Given the description of an element on the screen output the (x, y) to click on. 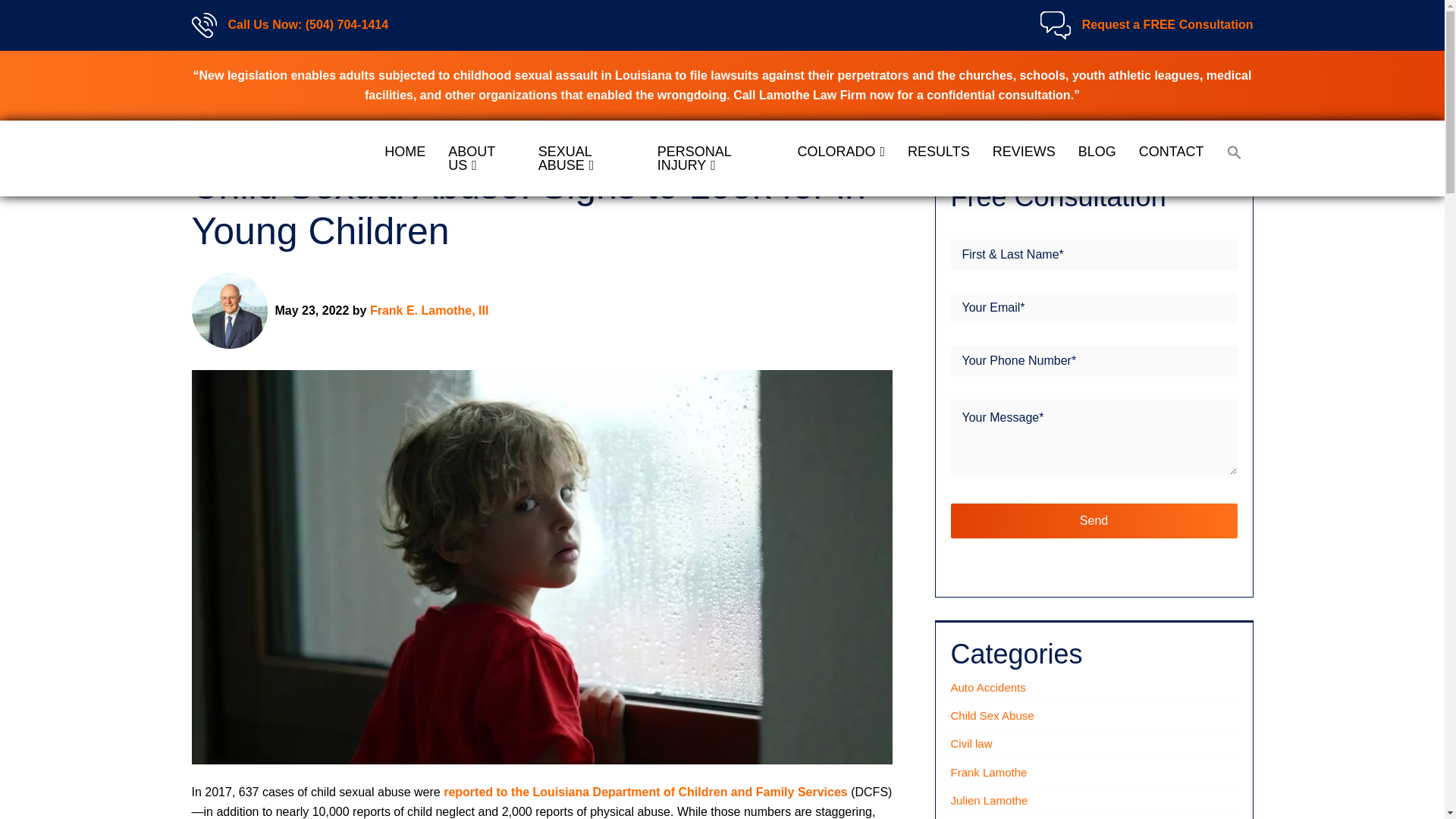
SEXUAL ABUSE (586, 158)
Request a FREE Consultation (1167, 25)
ABOUT US (480, 158)
PERSONAL INJURY (716, 158)
HOME (404, 151)
Send (1093, 520)
Lamothe Law Firm (266, 158)
